Given the description of an element on the screen output the (x, y) to click on. 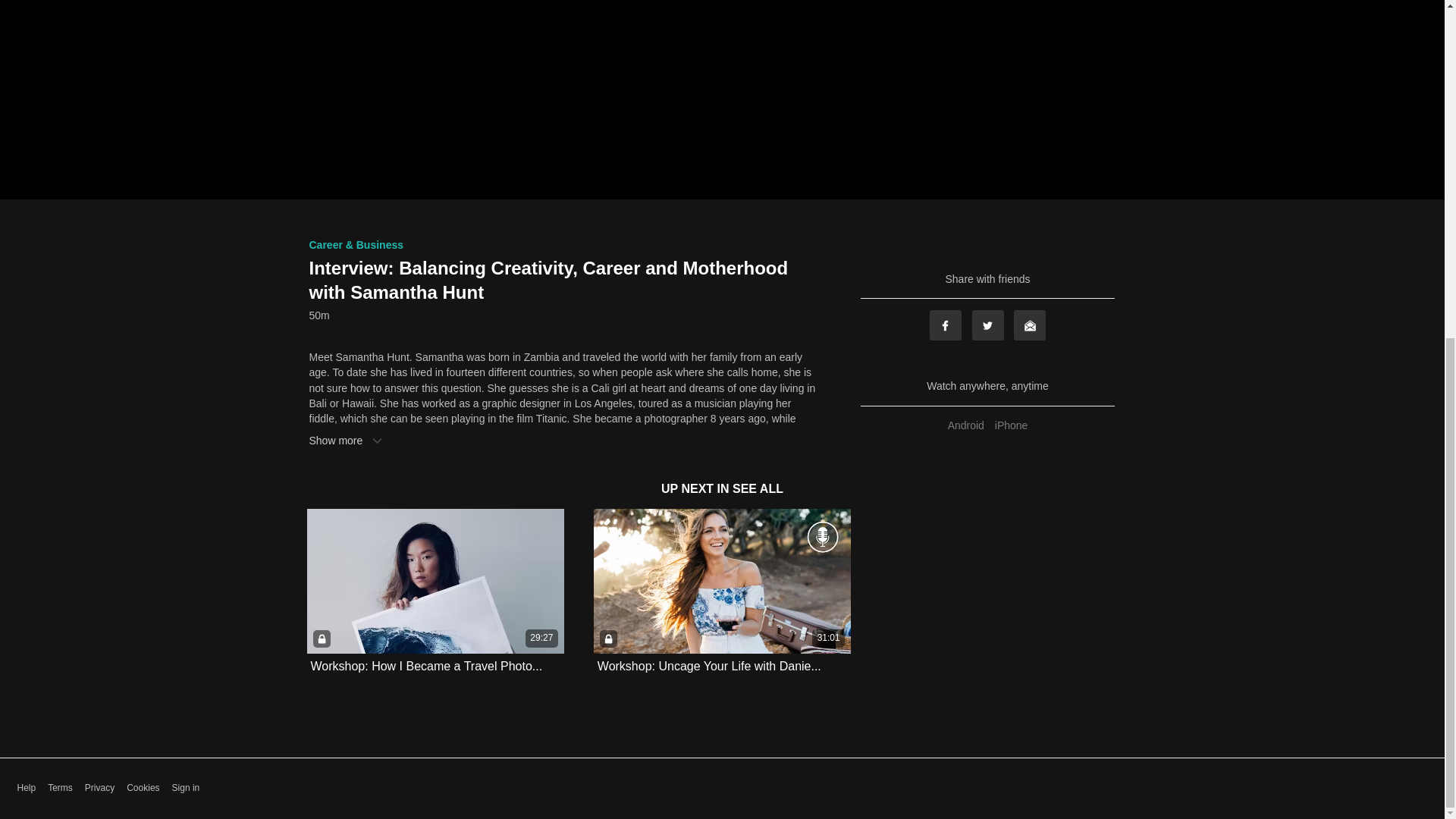
Workshop: Uncage Your Life with Danie... (708, 666)
Workshop: How I Became a Travel Photo... (427, 666)
Email (1029, 325)
Twitter (988, 325)
Android (965, 425)
SEE ALL (757, 488)
Facebook (945, 325)
Workshop: Uncage Your Life with Danie... (708, 666)
Help (25, 788)
31:01 (722, 580)
Workshop: How I Became a Travel Photo... (427, 666)
Terms (60, 788)
iPhone (1011, 425)
29:27 (434, 580)
Privacy (99, 788)
